Given the description of an element on the screen output the (x, y) to click on. 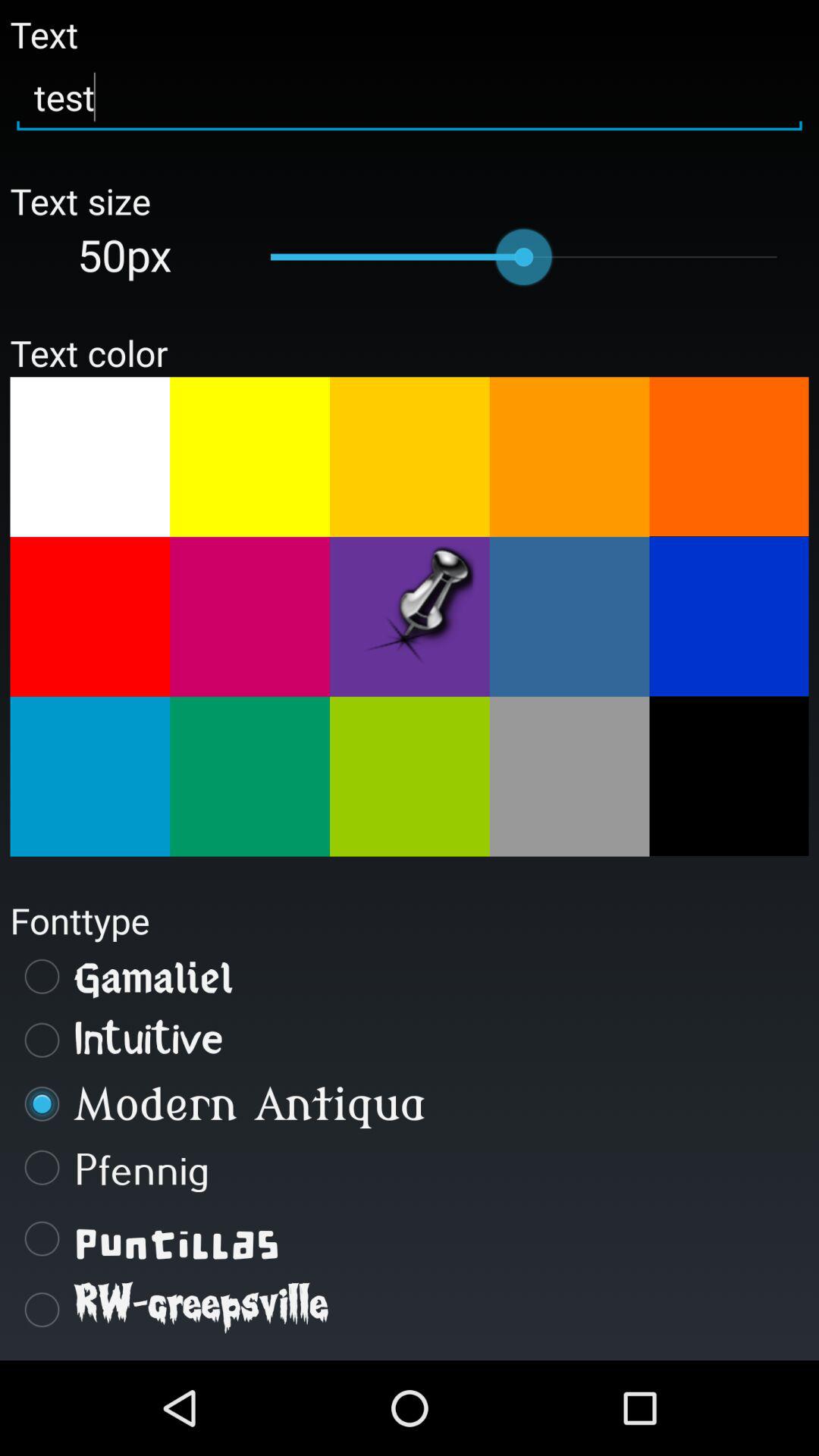
select the option modern antiqua (409, 1103)
select the orange color (729, 456)
click intuitive to select the text (409, 1040)
select the yellow color image (249, 457)
select the button below modern antiqua (409, 1167)
select the text field which says test (409, 97)
select the button which is having light green color (409, 777)
click on white colored box which is below the word text color (89, 457)
